Given the description of an element on the screen output the (x, y) to click on. 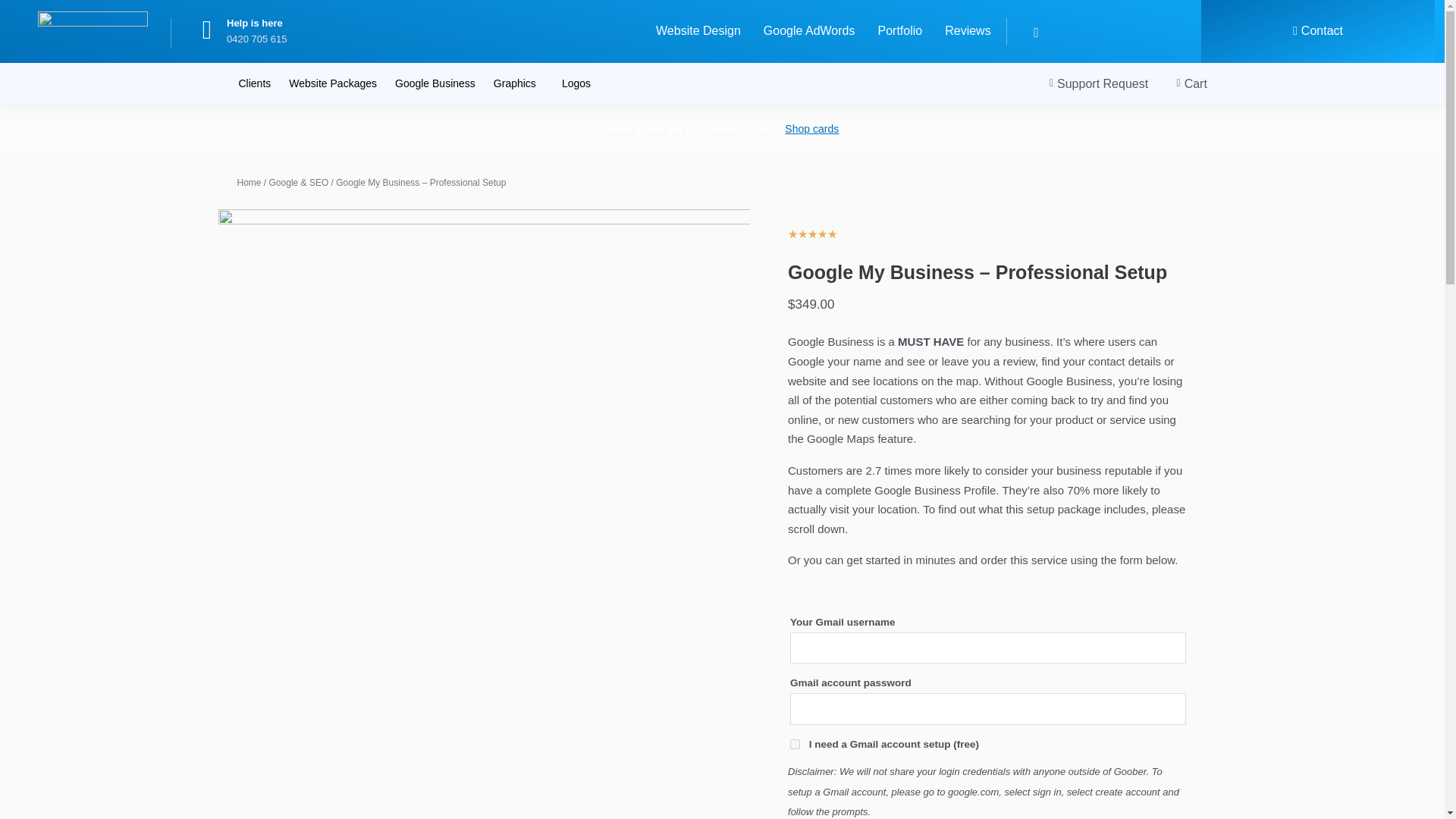
Contact (1317, 31)
Google AdWords (809, 30)
Home (247, 182)
Reviews (967, 30)
Support Request (1094, 84)
Website Design (698, 30)
Portfolio (899, 30)
Clients (253, 82)
Shop cards (811, 128)
1 (794, 744)
